Given the description of an element on the screen output the (x, y) to click on. 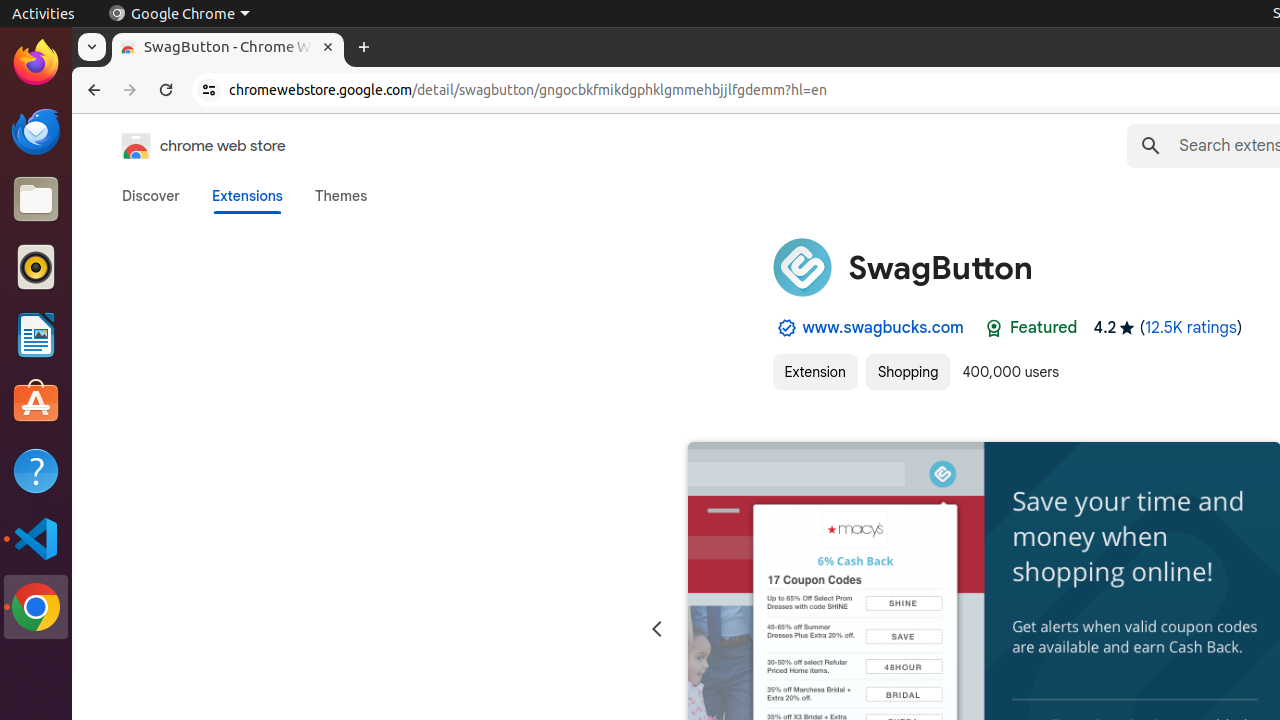
12.5K ratings Element type: link (1191, 328)
Reload Element type: push-button (166, 90)
www.swagbucks.com Element type: link (883, 328)
Thunderbird Mail Element type: push-button (36, 131)
Google Chrome Element type: menu (179, 13)
